Given the description of an element on the screen output the (x, y) to click on. 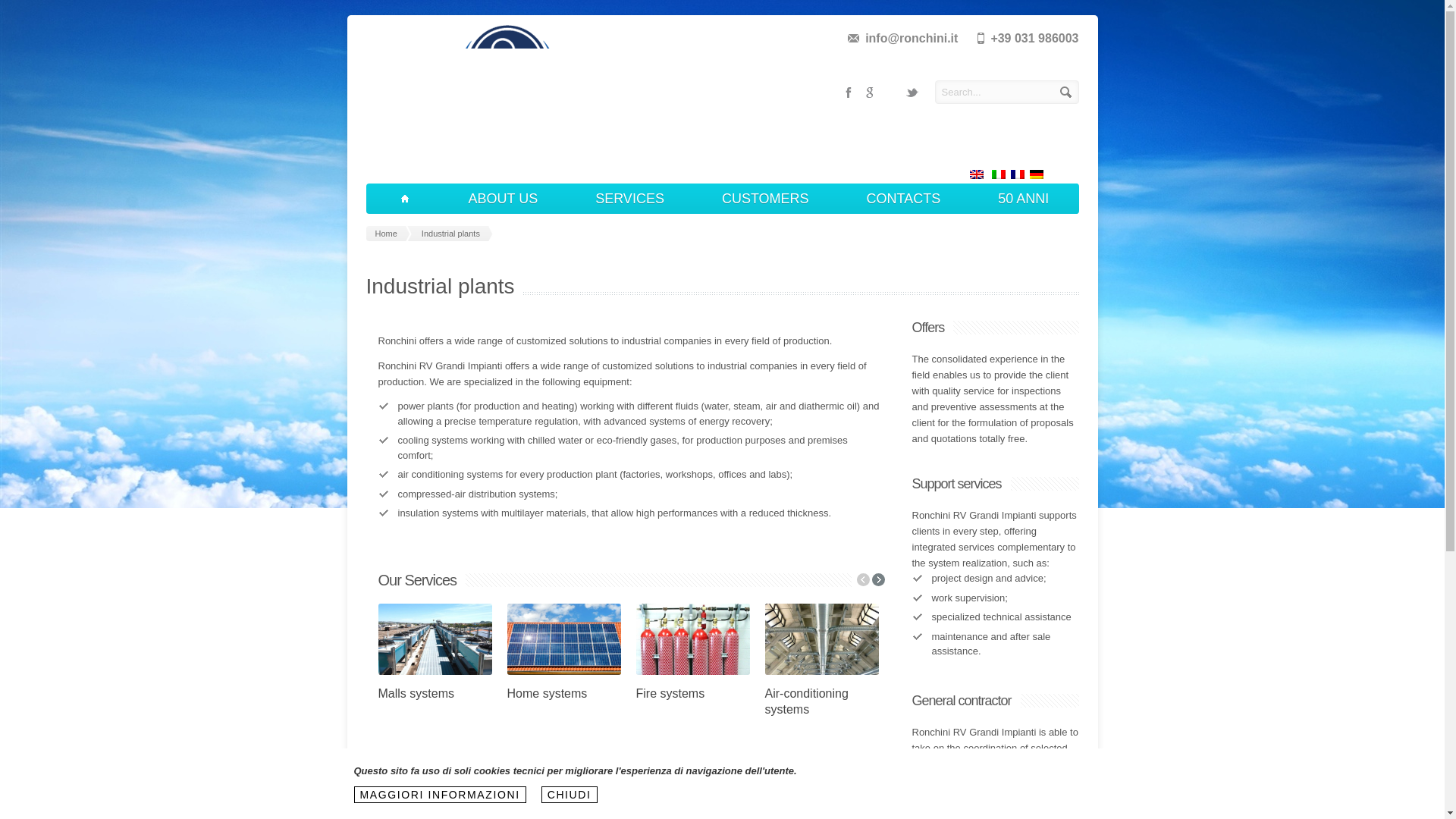
twitter (911, 92)
ABOUT US (503, 198)
fb (847, 92)
Home (388, 233)
Ronchini (504, 143)
Air-conditioning systems (805, 701)
skype (889, 92)
google (869, 92)
facebook (847, 92)
Industrial plants (453, 233)
